Given the description of an element on the screen output the (x, y) to click on. 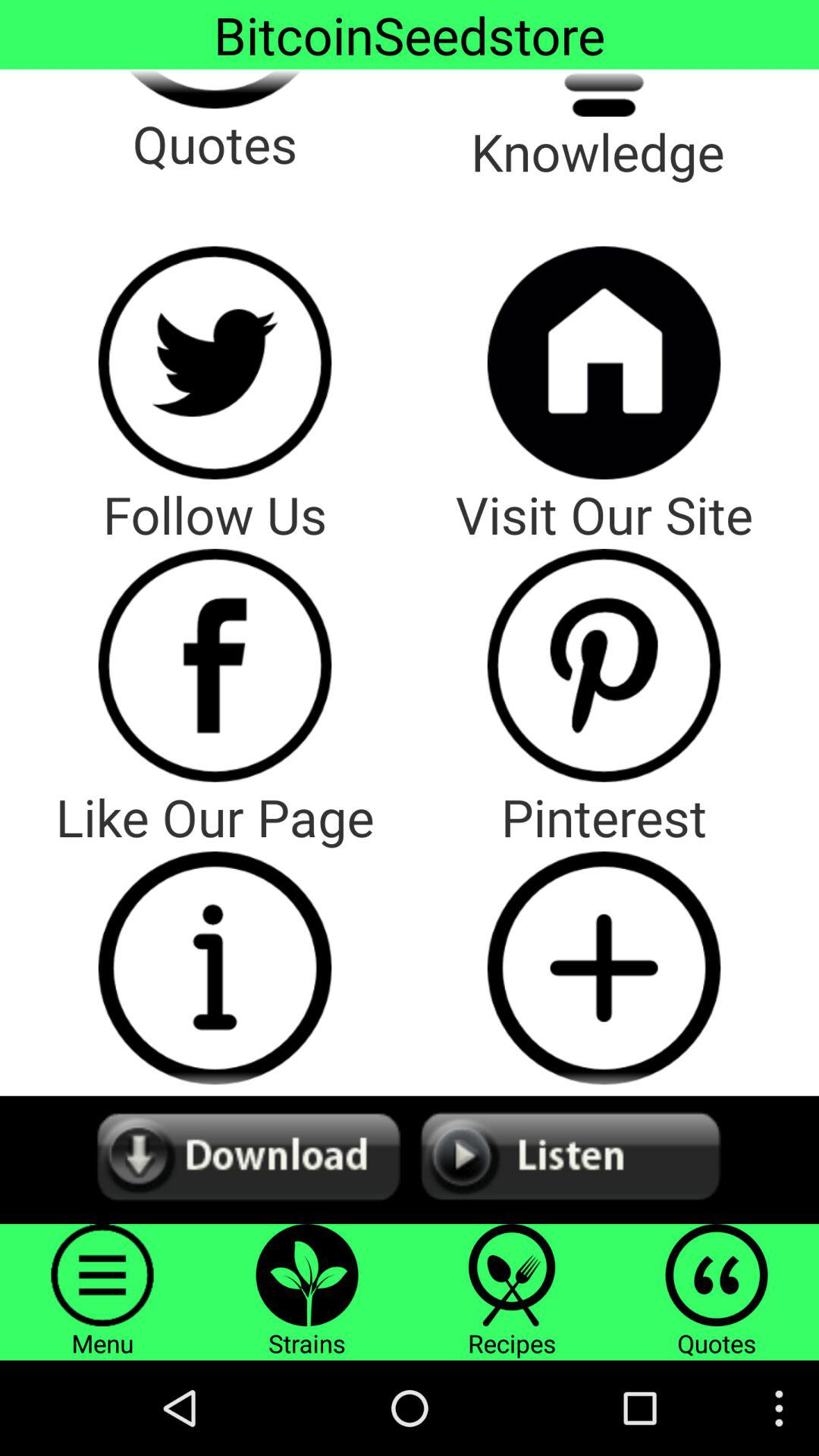
select both option (409, 1159)
